Given the description of an element on the screen output the (x, y) to click on. 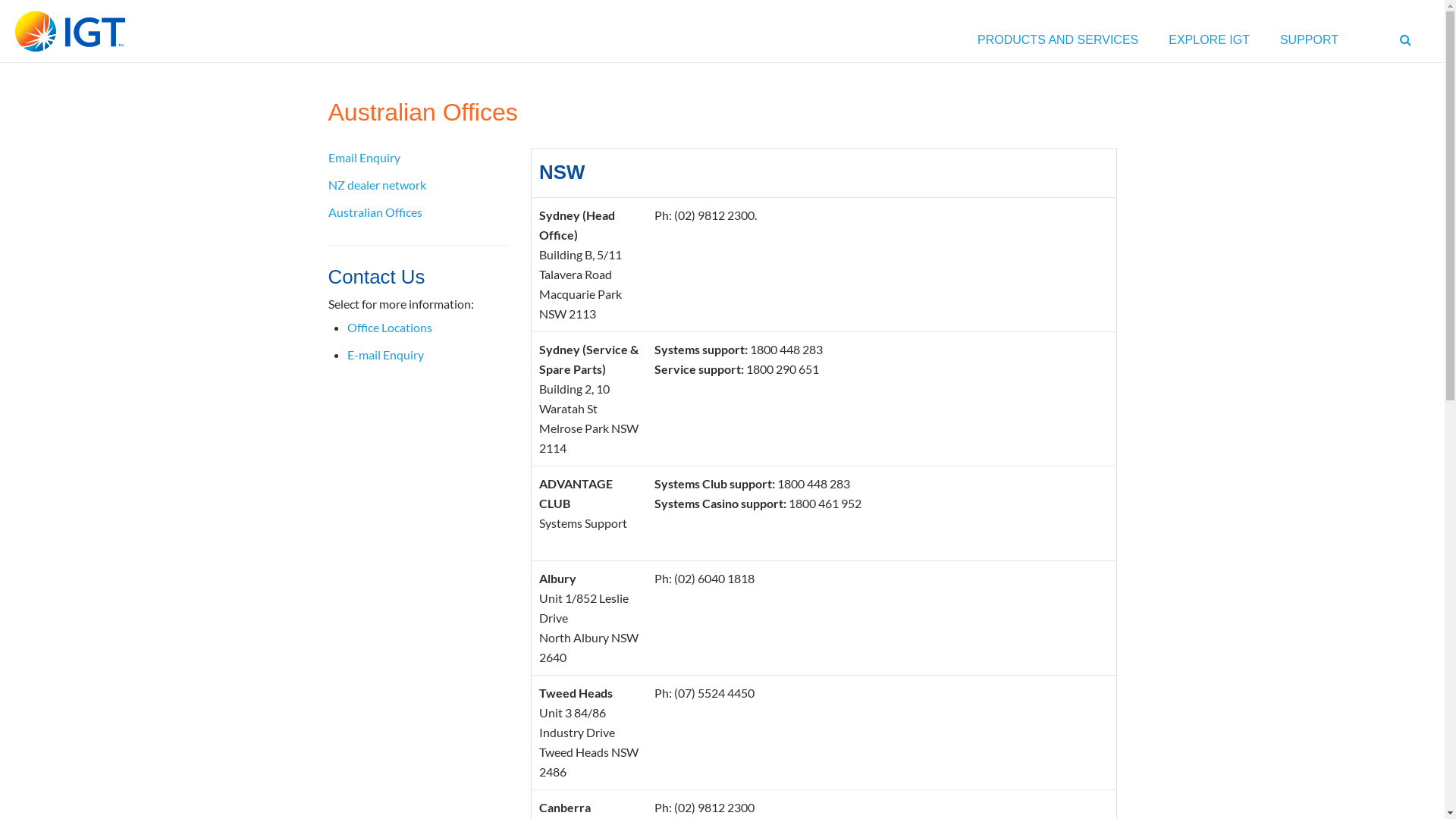
NZ dealer network Element type: text (376, 184)
PRODUCTS AND SERVICES Element type: text (1057, 43)
E-mail Enquiry Element type: text (385, 354)
Office Locations Element type: text (389, 327)
SUPPORT Element type: text (1308, 43)
Australian Offices Element type: text (374, 211)
IGT Element type: text (70, 31)
Email Enquiry Element type: text (363, 157)
  Element type: text (1406, 43)
EXPLORE IGT Element type: text (1208, 43)
